Given the description of an element on the screen output the (x, y) to click on. 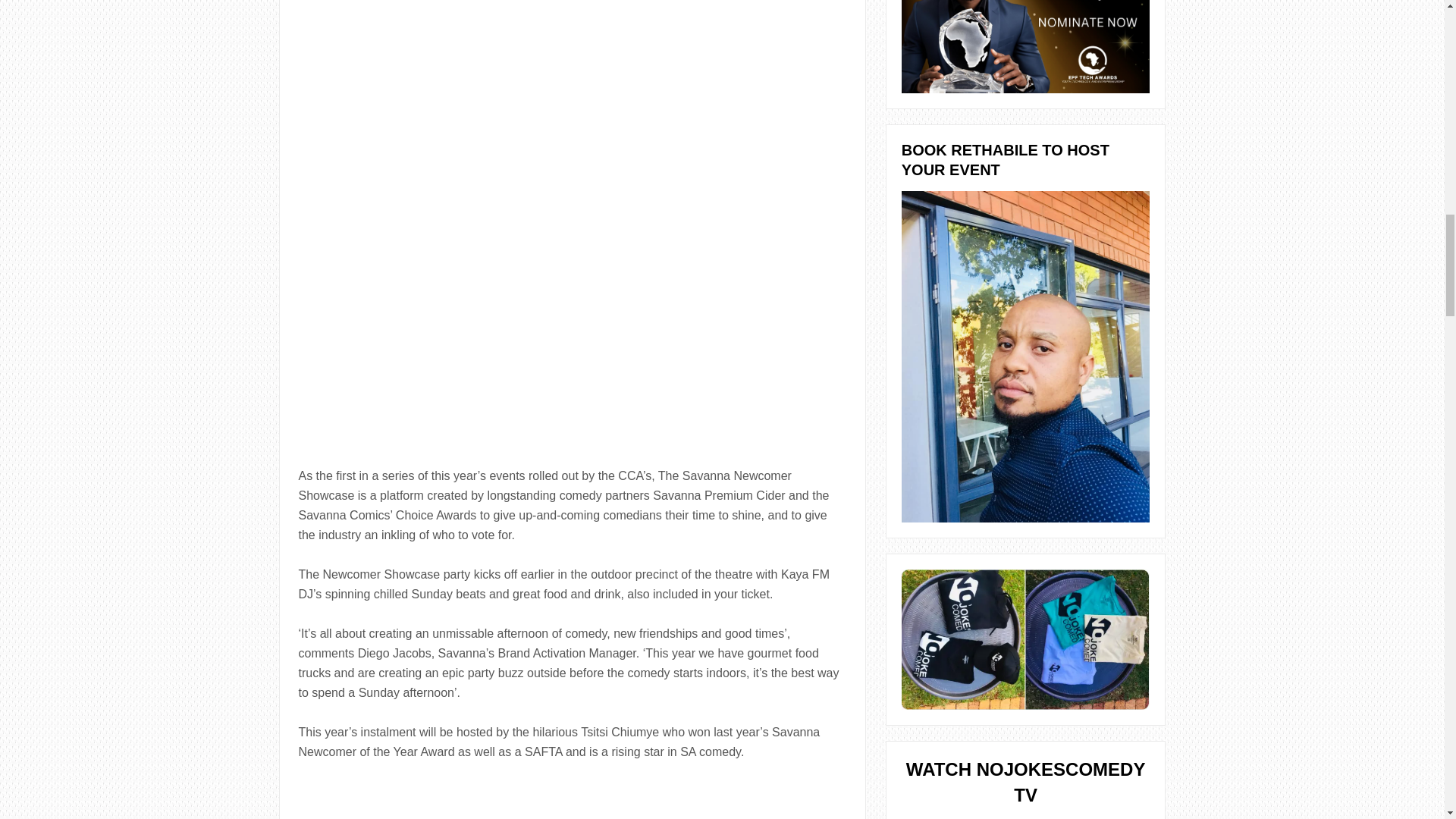
NoJokesComedy Monthly Events (1025, 356)
